Given the description of an element on the screen output the (x, y) to click on. 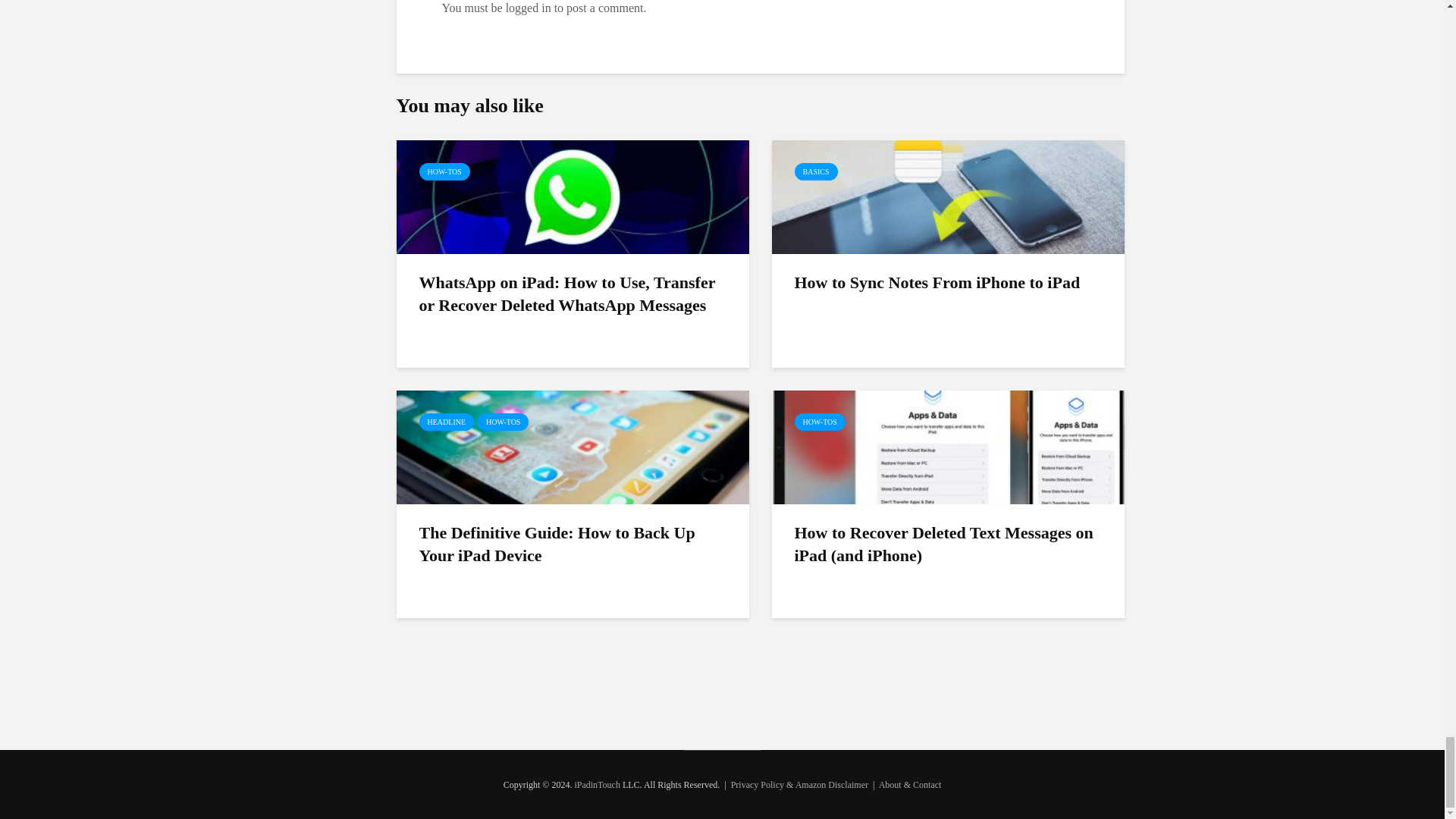
How to Sync Notes From iPhone to iPad (947, 195)
The Definitive Guide: How to Back Up Your iPad Device (572, 445)
